Given the description of an element on the screen output the (x, y) to click on. 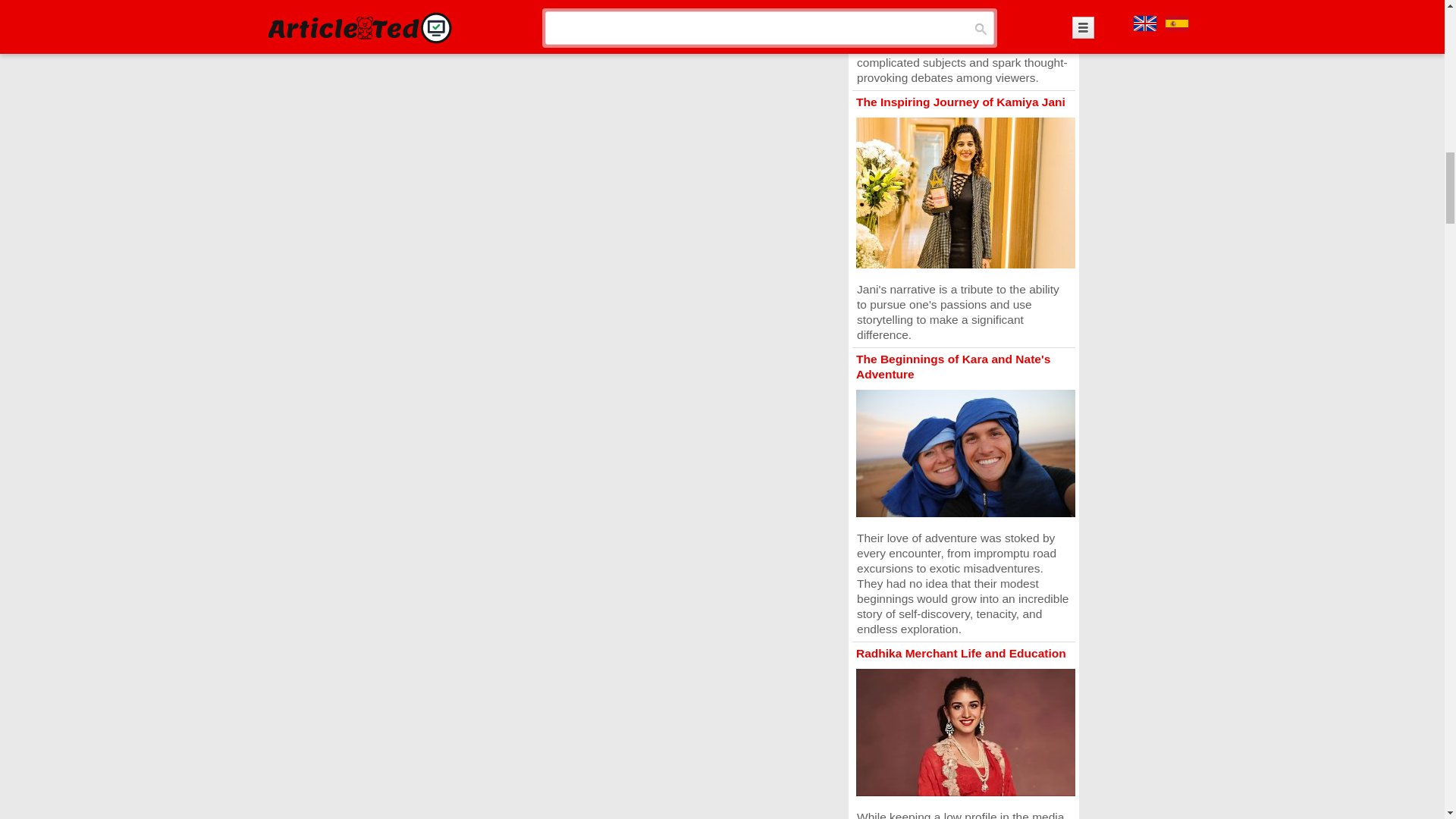
Radhika Merchant Life and Education (960, 653)
The Inspiring Journey of Kamiya Jani (960, 101)
The Beginnings of Kara and Nate's Adventure (952, 366)
